Given the description of an element on the screen output the (x, y) to click on. 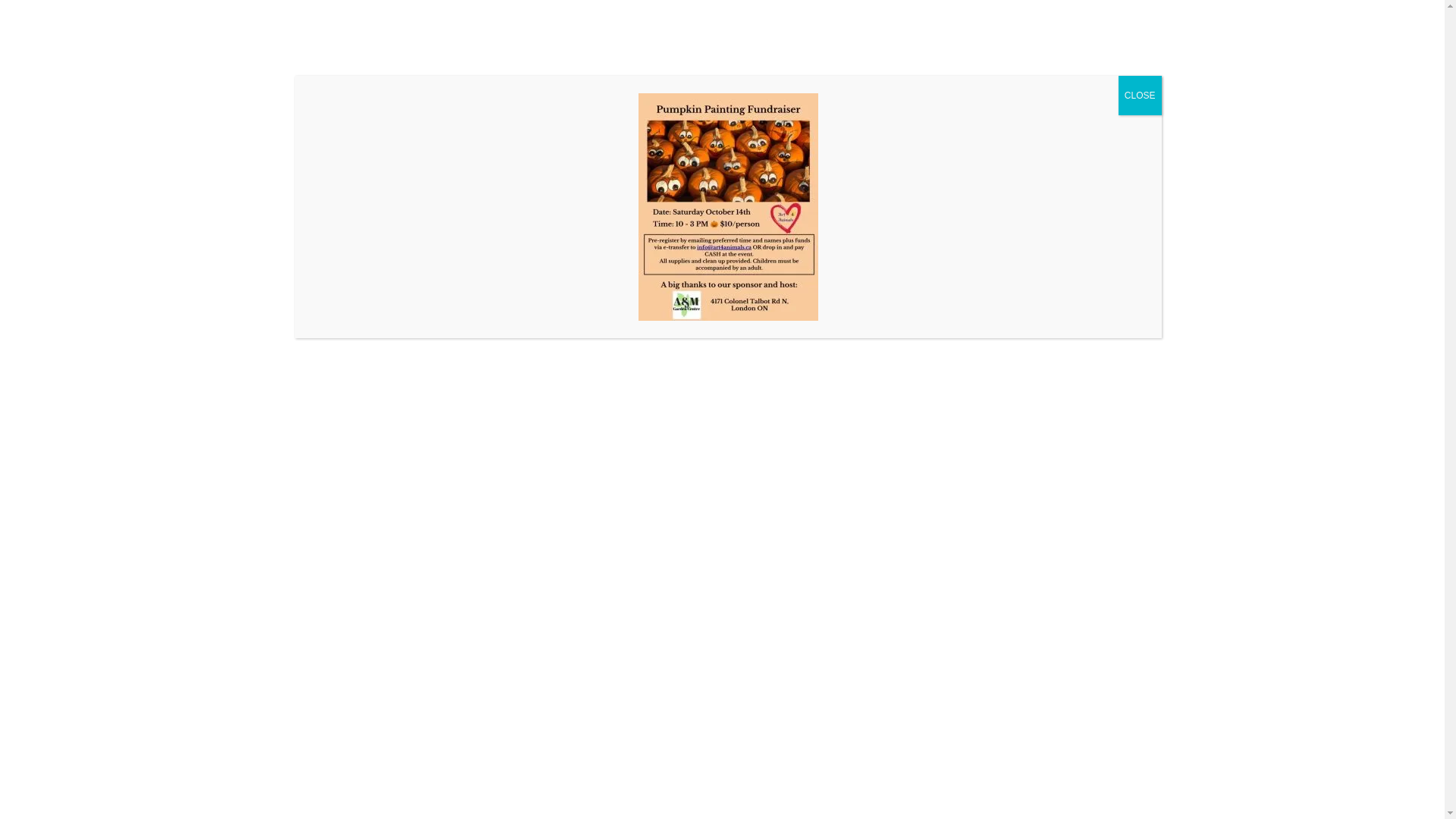
General Resources Element type: text (887, 117)
Artists and Crafters Element type: text (715, 117)
Oak House Design Element type: text (895, 580)
Events Element type: text (600, 117)
Home Element type: text (421, 117)
Please Help! Element type: text (1042, 117)
CLOSE Element type: text (1139, 95)
Contact Element type: text (1143, 117)
Adoptions Element type: text (513, 117)
